Given the description of an element on the screen output the (x, y) to click on. 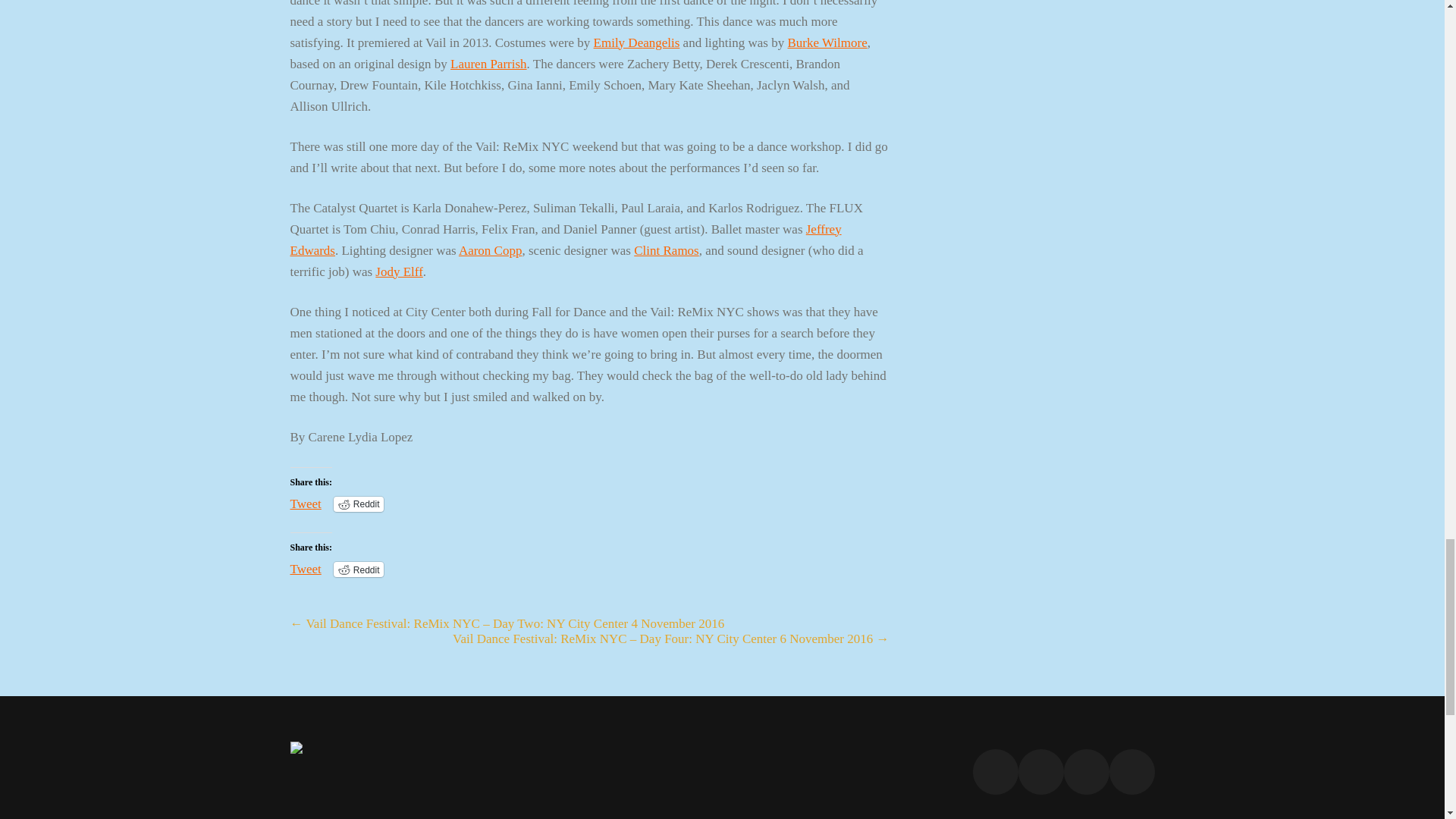
Twitter (1039, 771)
Click to share on Reddit (358, 503)
Click to share on Reddit (358, 569)
Youtube (1085, 771)
Instagram (1131, 771)
Facebook (994, 771)
